Given the description of an element on the screen output the (x, y) to click on. 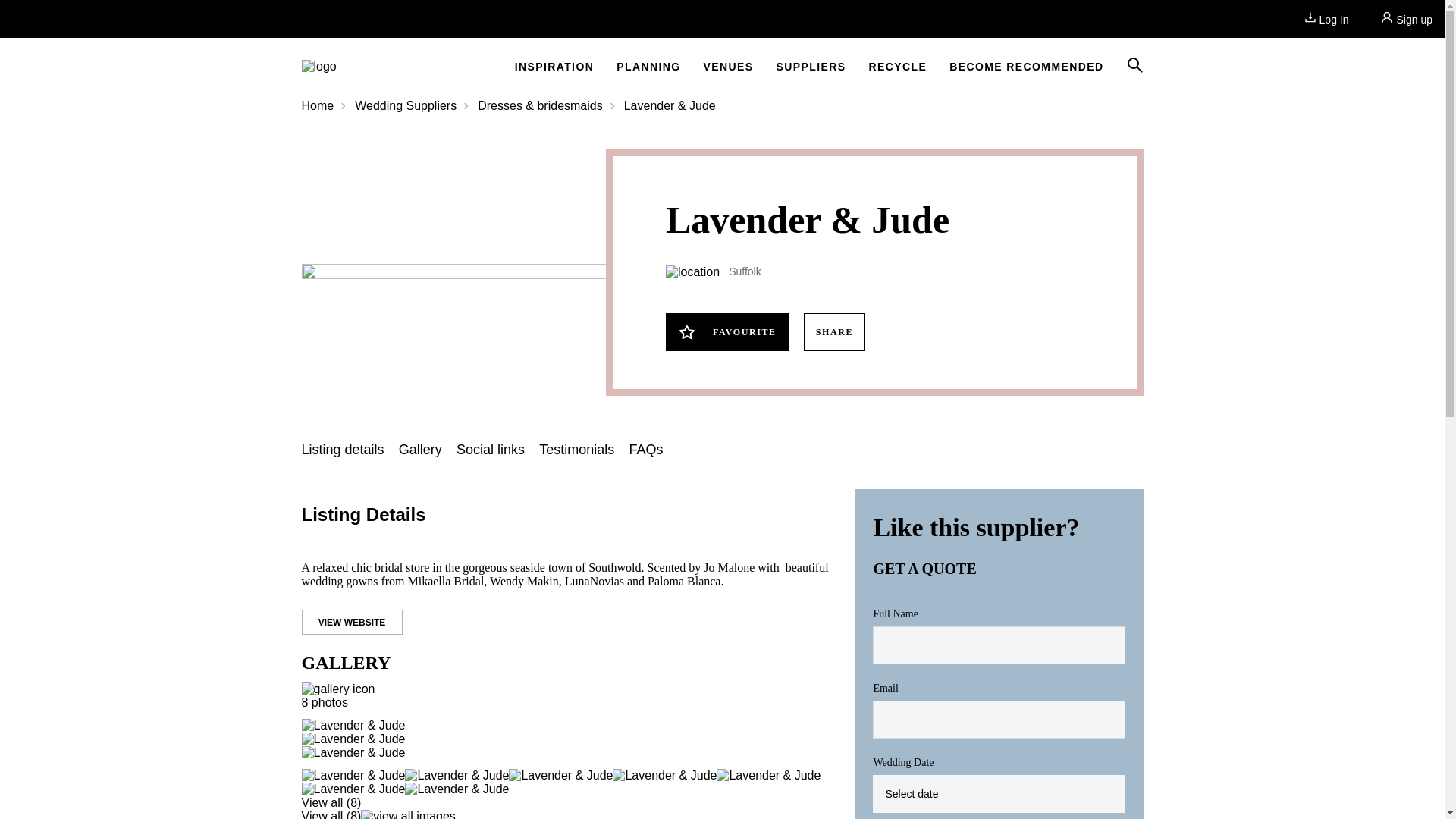
VIEW WEBSITE (352, 621)
Listing details (342, 449)
Wedding Suppliers (396, 106)
Home (317, 105)
INSPIRATION (554, 66)
PLANNING (647, 66)
FAQs (645, 449)
SUPPLIERS (810, 66)
Social links (490, 449)
FAVOURITE (727, 331)
